Given the description of an element on the screen output the (x, y) to click on. 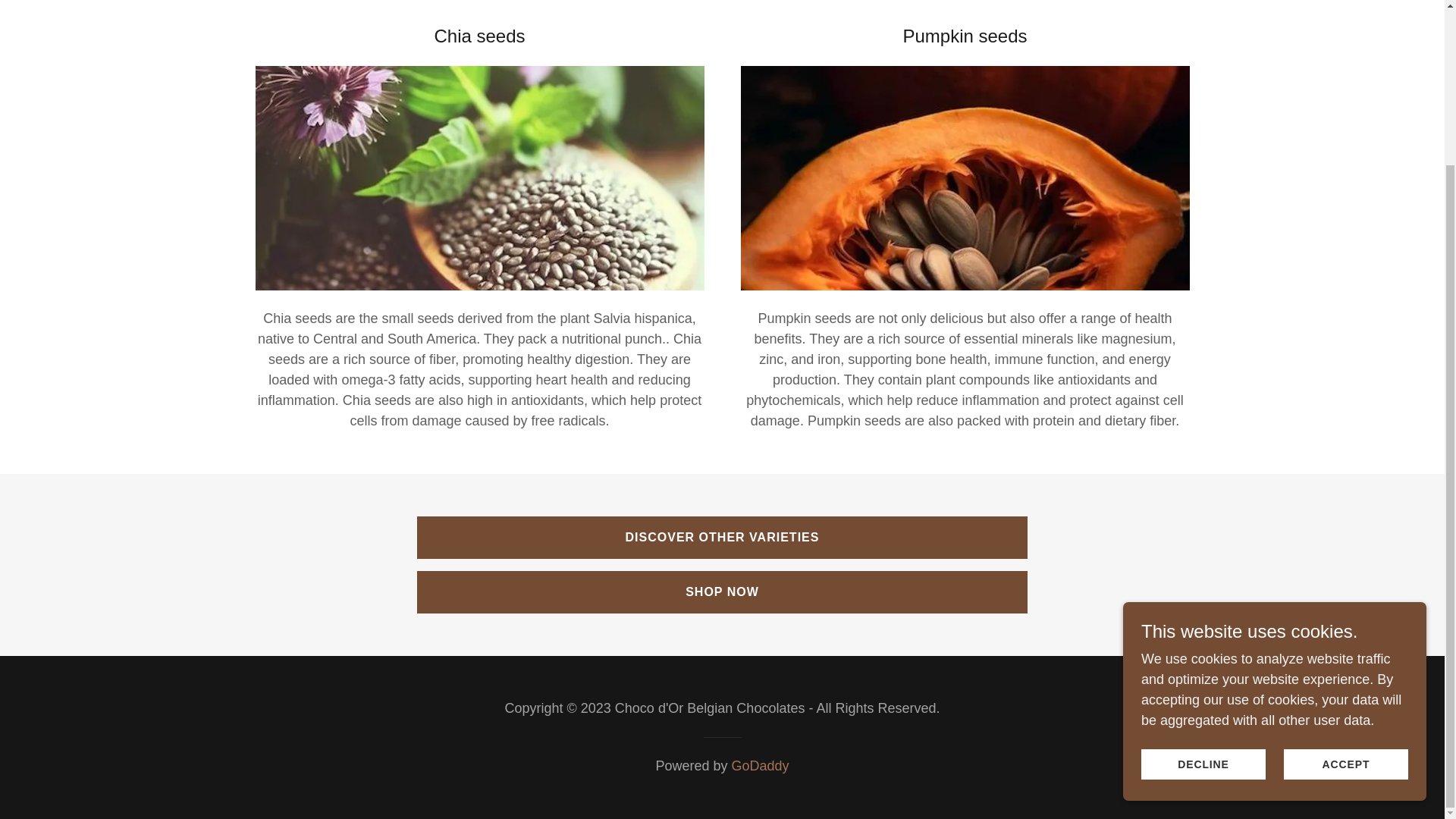
DISCOVER OTHER VARIETIES (721, 537)
GoDaddy (759, 765)
SHOP NOW (721, 591)
